Given the description of an element on the screen output the (x, y) to click on. 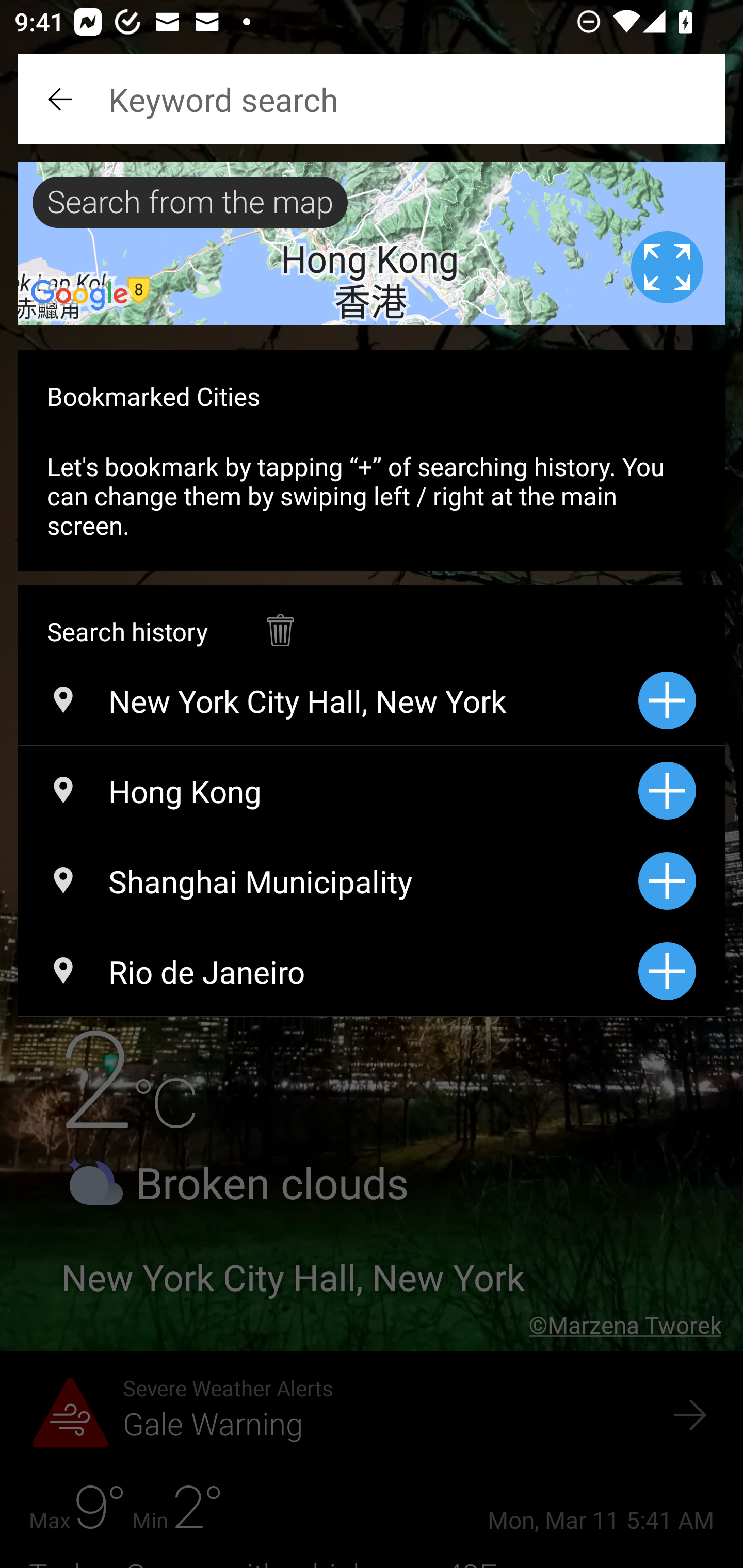
Keyword search (371, 99)
 (61, 99)
 (280, 619)
 New York City Hall, New York (327, 700)
 Hong Kong (327, 790)
 Shanghai Municipality (327, 880)
 Rio de Janeiro (327, 971)
